Given the description of an element on the screen output the (x, y) to click on. 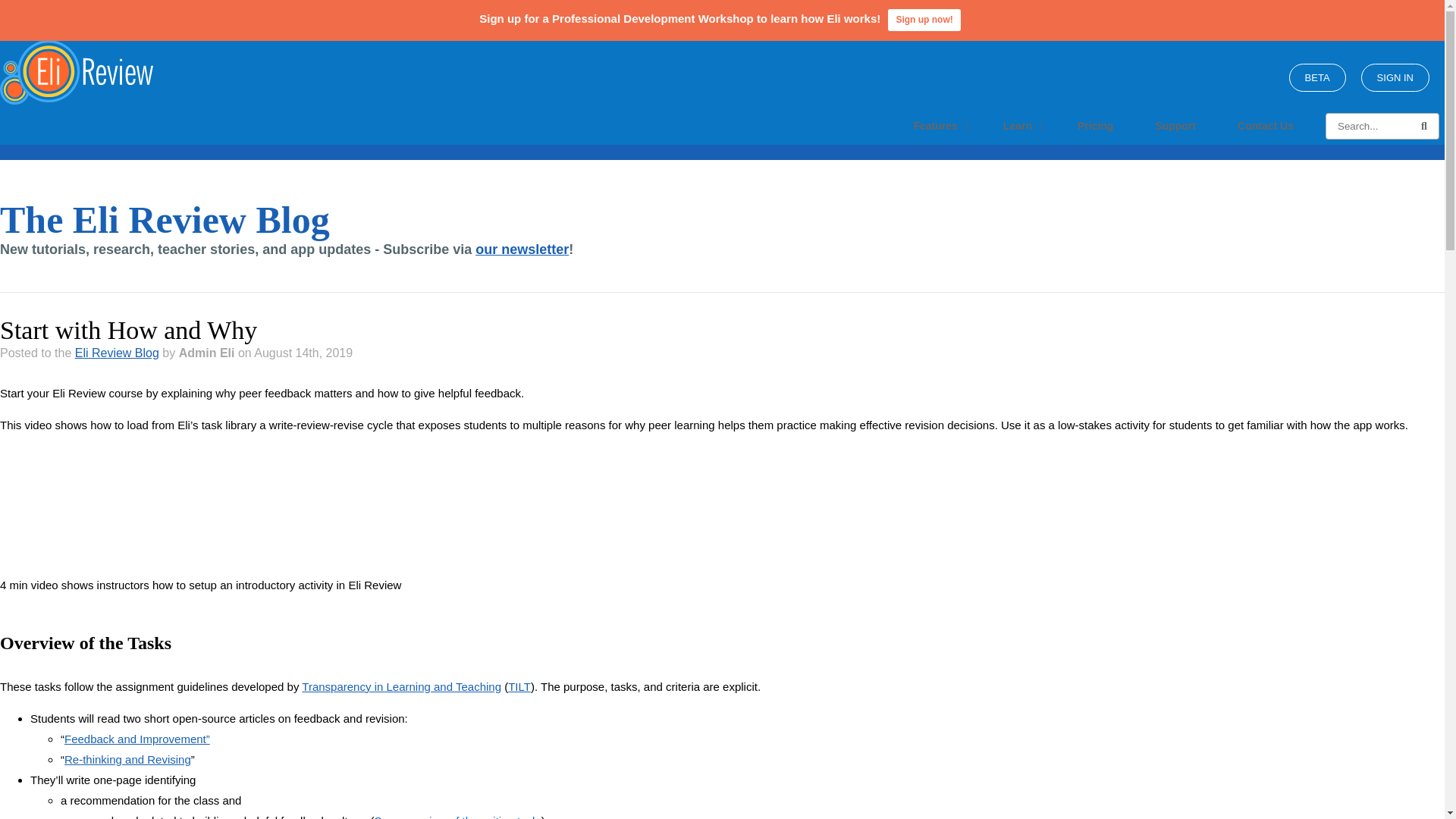
Opens a widget where you can find more information (69, 792)
BETA (1316, 77)
SIGN IN (1395, 77)
signin (1395, 77)
Pricing (1095, 125)
Learn (1019, 125)
signin (1316, 77)
Features (936, 125)
